Given the description of an element on the screen output the (x, y) to click on. 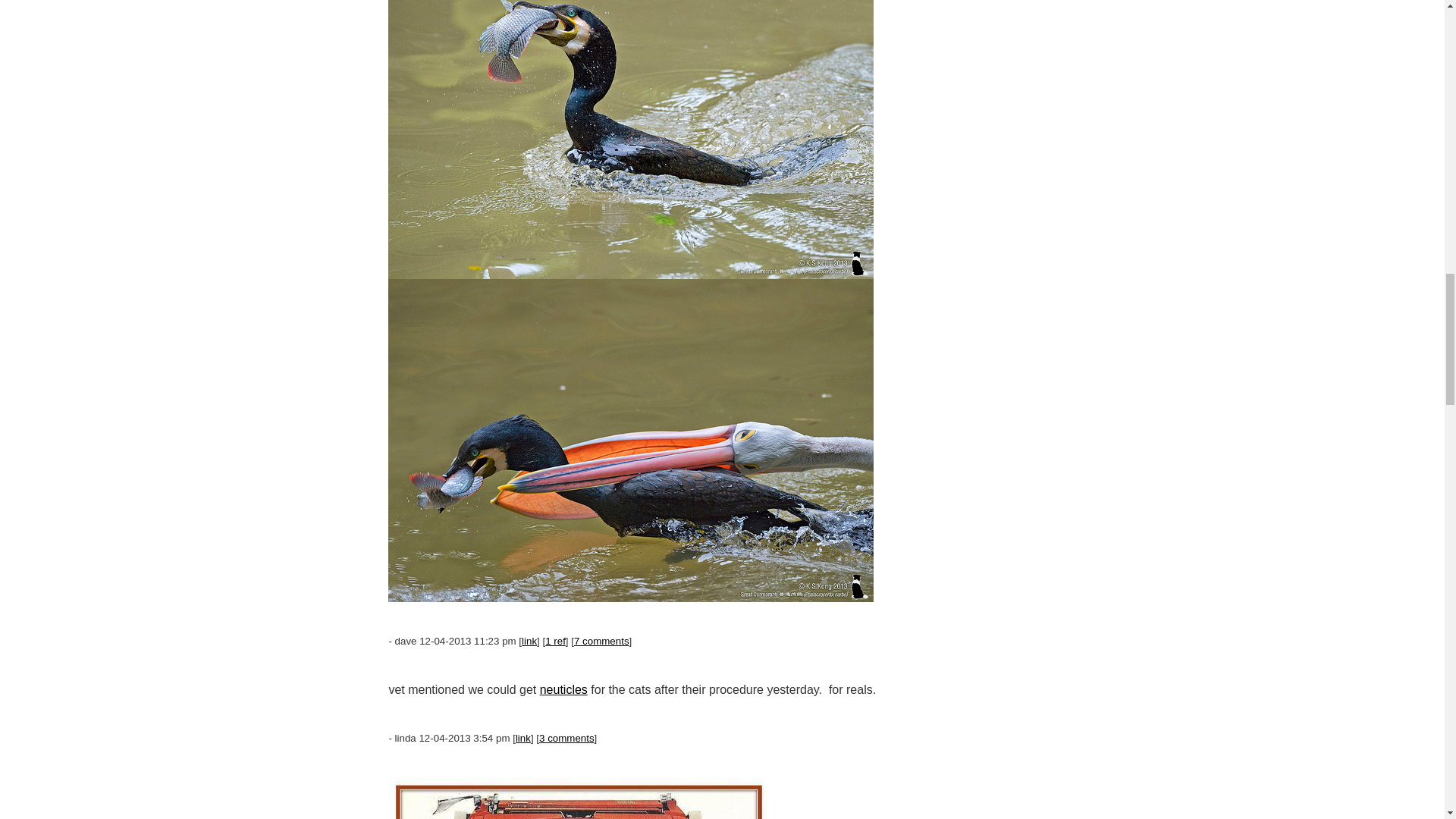
3 comments (566, 737)
link (529, 641)
1 ref (555, 641)
link (523, 737)
neuticles (564, 689)
7 comments (600, 641)
